Given the description of an element on the screen output the (x, y) to click on. 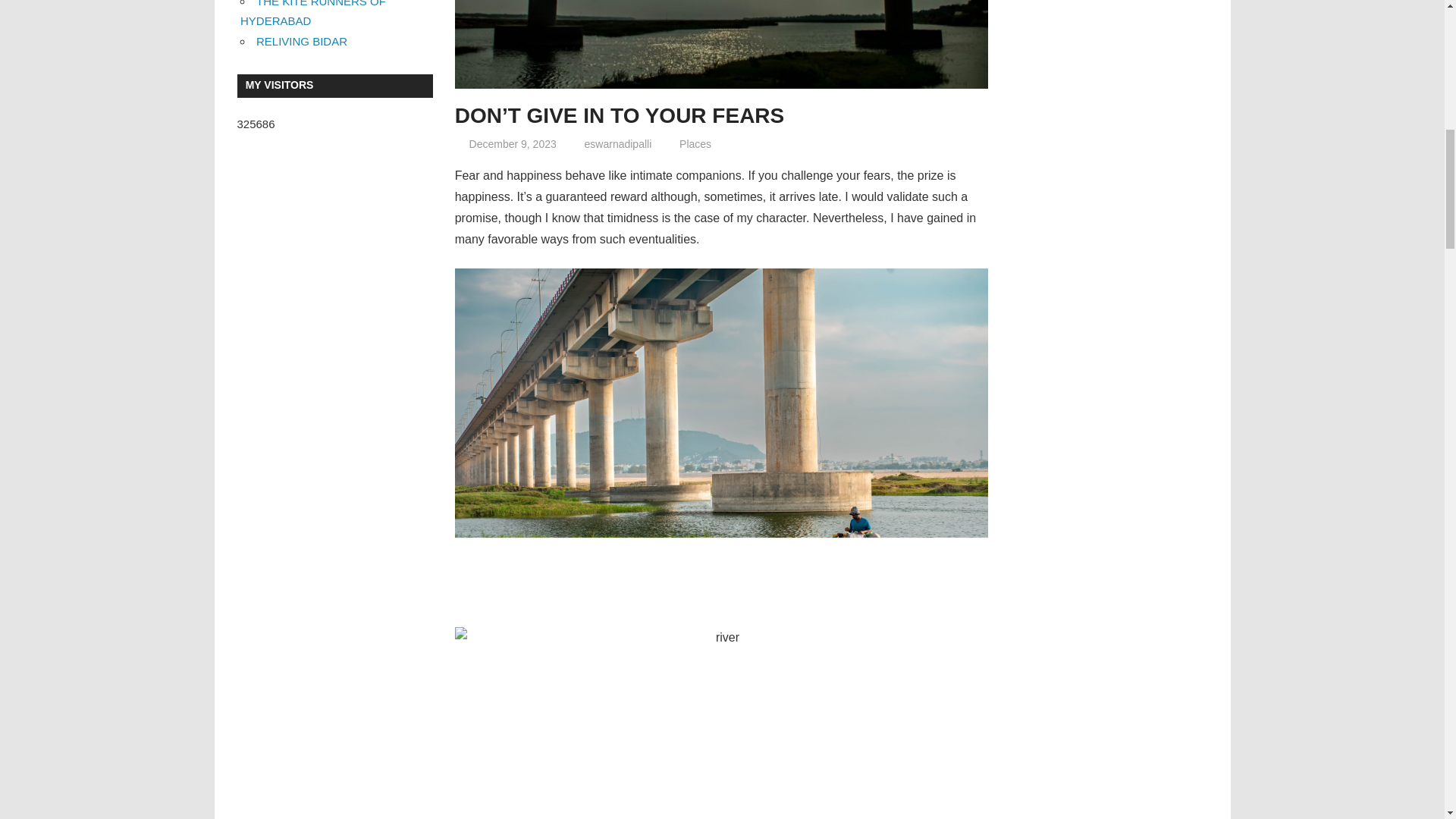
THE KITE RUNNERS OF HYDERABAD (312, 13)
5:44 PM (512, 143)
December 9, 2023 (512, 143)
View all posts by eswarnadipalli (618, 143)
RELIVING BIDAR (301, 41)
Places (695, 143)
eswarnadipalli (618, 143)
